Given the description of an element on the screen output the (x, y) to click on. 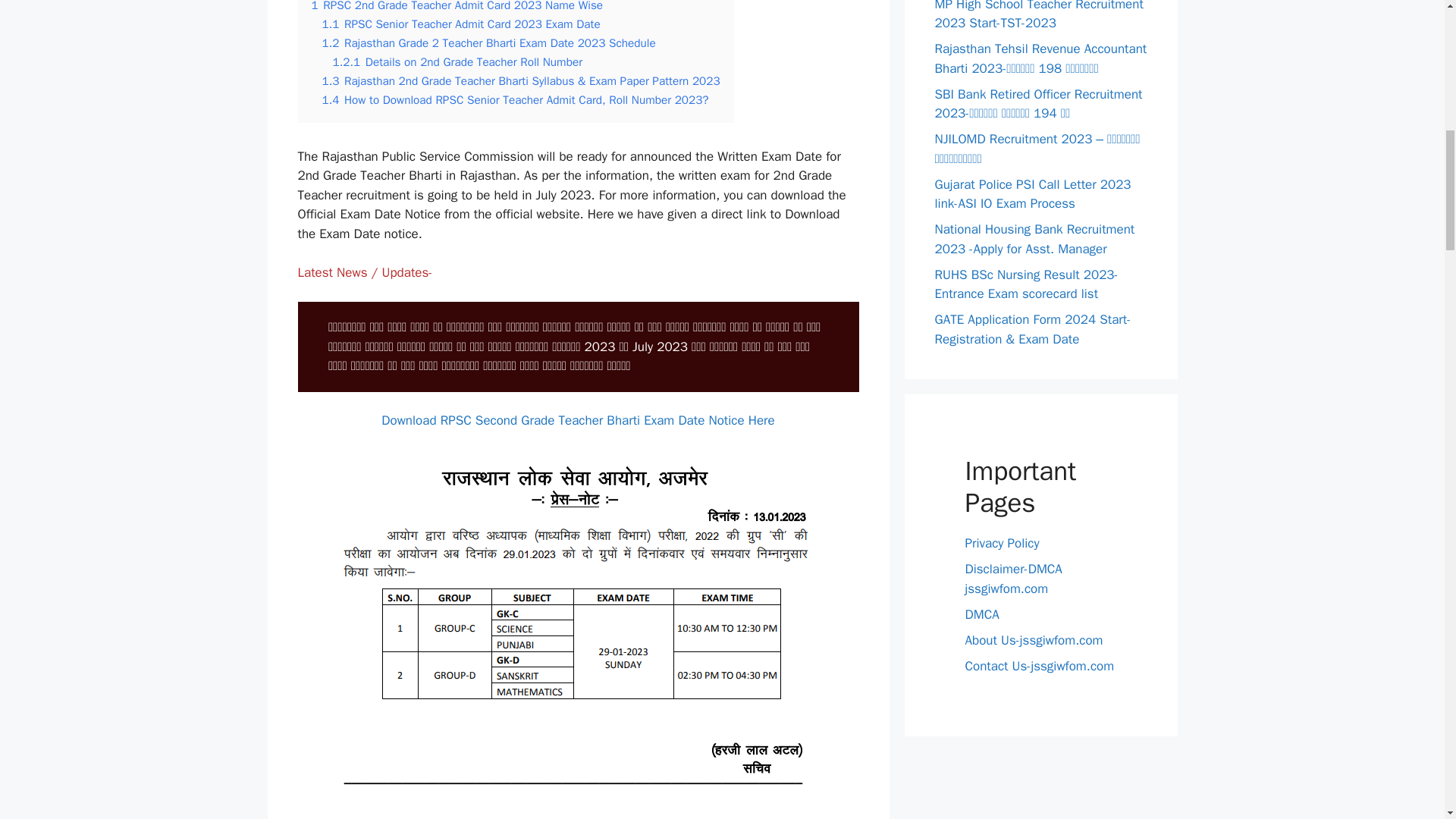
1.2 Rajasthan Grade 2 Teacher Bharti Exam Date 2023 Schedule (488, 43)
1.1 RPSC Senior Teacher Admit Card 2023 Exam Date (460, 23)
Advertisement (578, 808)
1.2.1 Details on 2nd Grade Teacher Roll Number (456, 61)
1 RPSC 2nd Grade Teacher Admit Card 2023 Name Wise (456, 6)
